Given the description of an element on the screen output the (x, y) to click on. 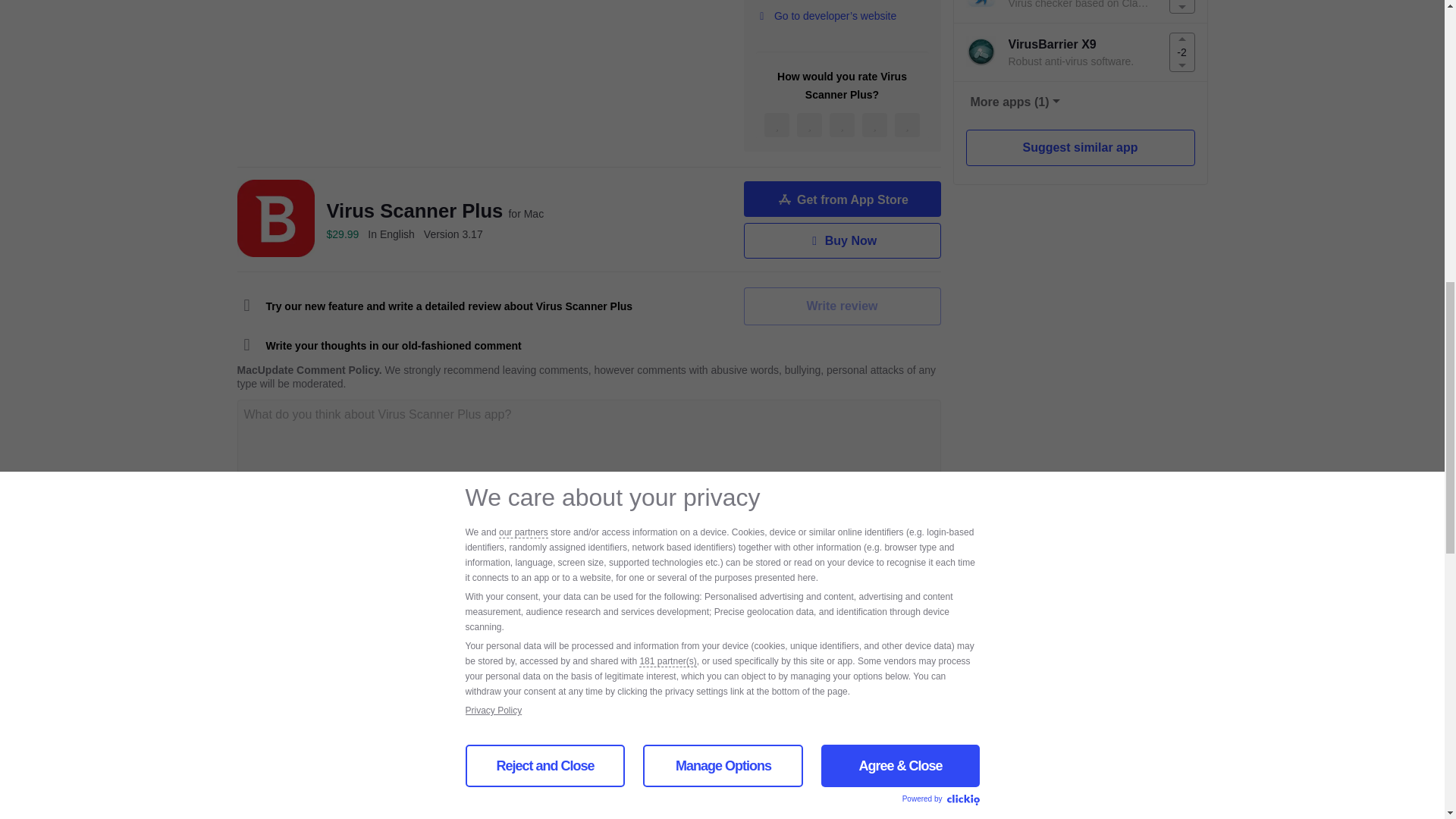
PsiFi (328, 661)
Old-Toad (340, 756)
Version: 3.8 (844, 661)
Version: 3.7 (844, 756)
3.17 (453, 234)
